Given the description of an element on the screen output the (x, y) to click on. 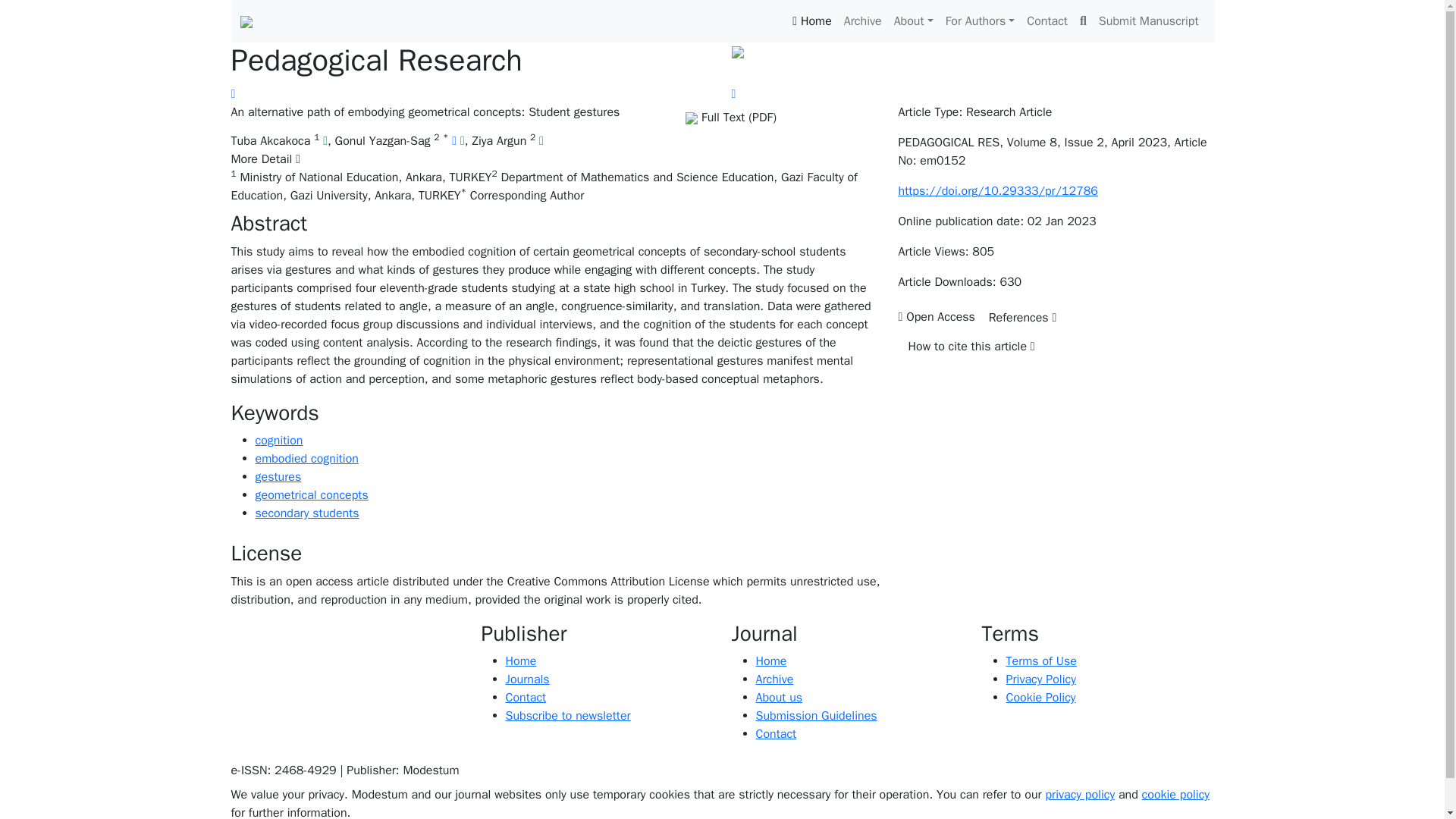
gestures (277, 476)
Archive (863, 20)
Submit Manuscript (1149, 20)
Home (812, 20)
cognition (278, 440)
For Authors (980, 20)
secondary students (306, 513)
geometrical concepts (311, 494)
About (913, 20)
Contact (1047, 20)
